Given the description of an element on the screen output the (x, y) to click on. 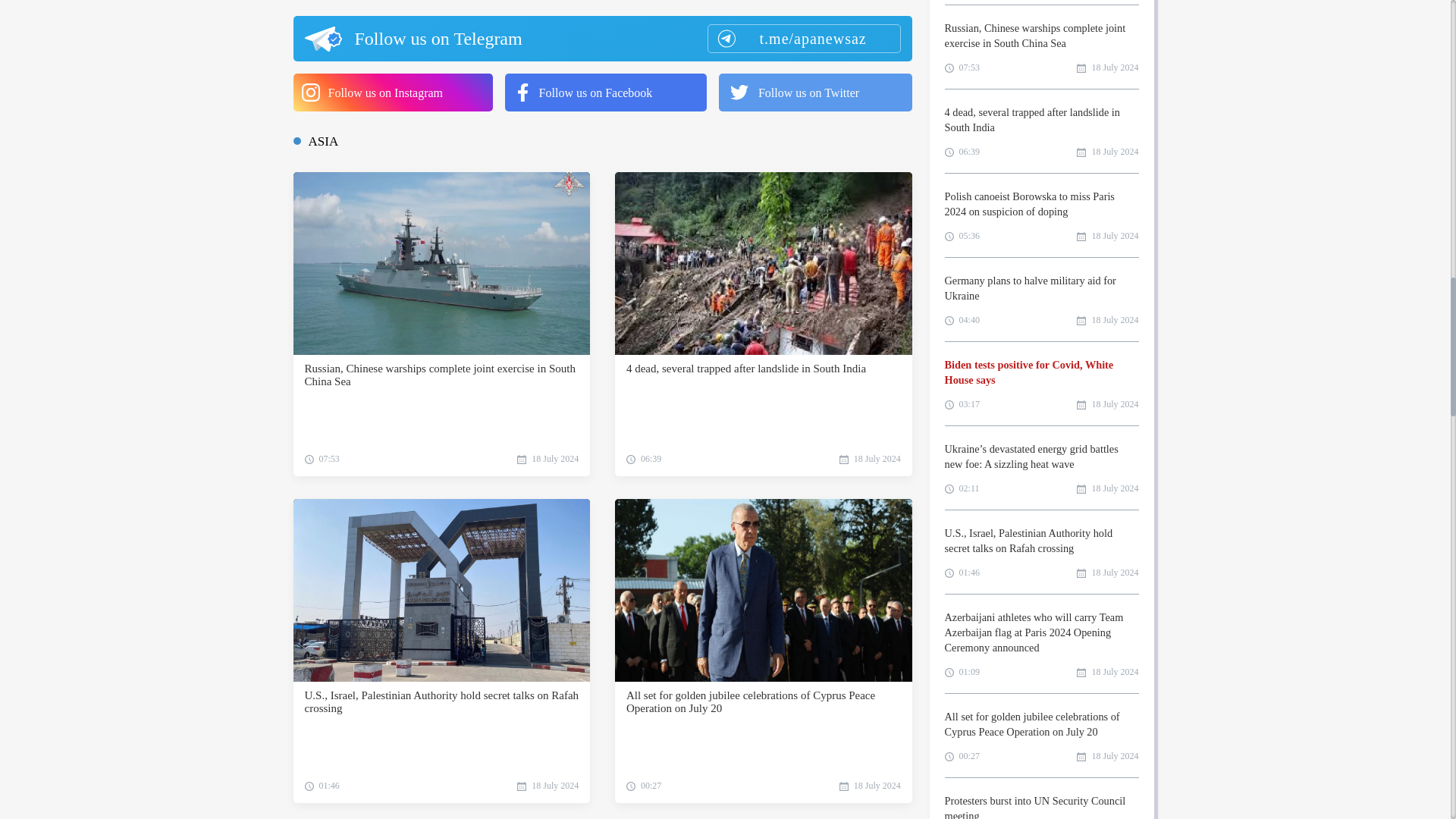
Follow us on Telegram (601, 38)
Follow us on Instagram (392, 92)
Follow us on Twitter (815, 92)
Follow us on Facebook (605, 92)
